Given the description of an element on the screen output the (x, y) to click on. 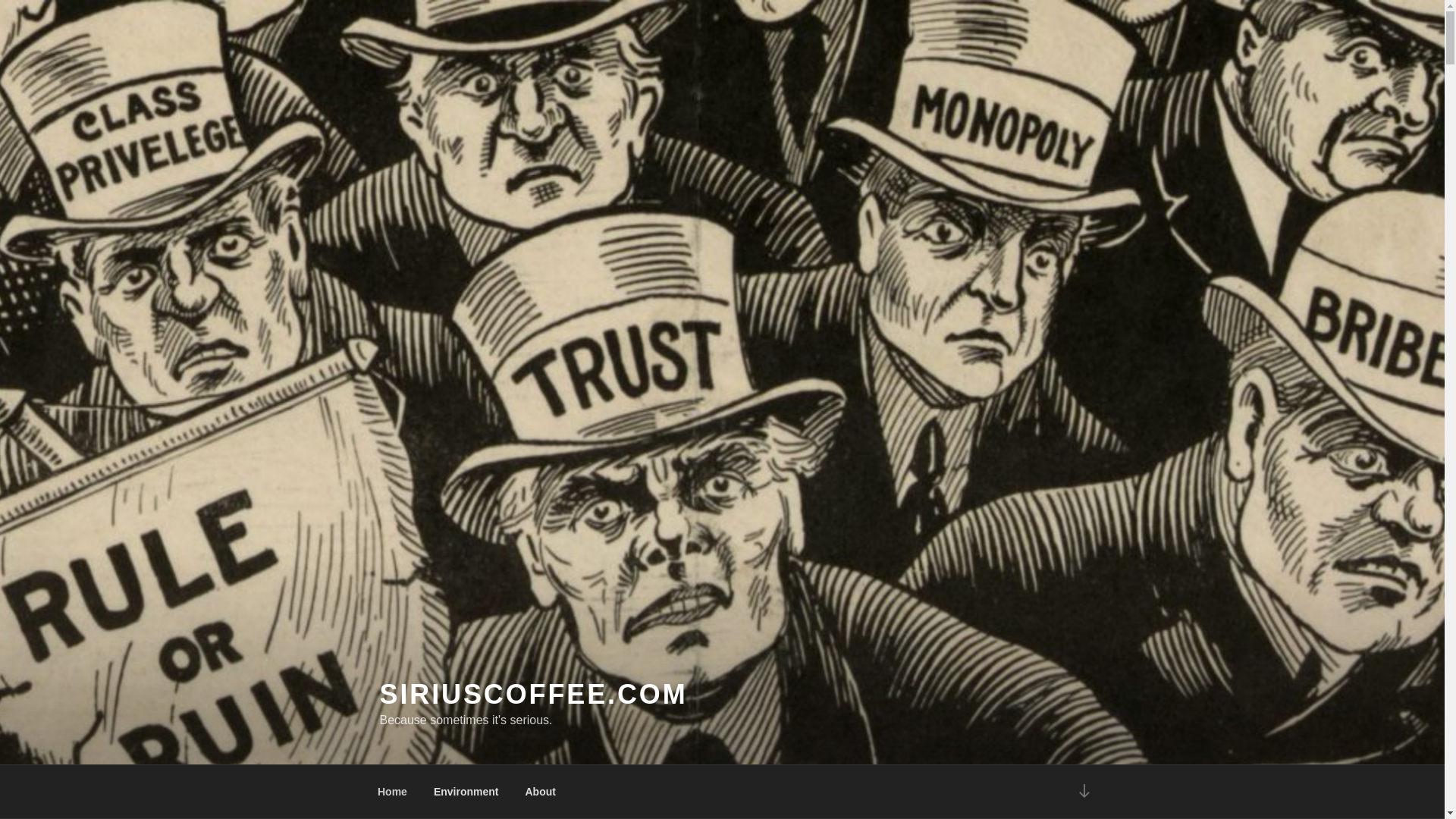
Scroll down to content (1082, 791)
Environment (466, 791)
Scroll down to content (1082, 791)
Home (392, 791)
SIRIUSCOFFEE.COM (532, 694)
About (540, 791)
